Given the description of an element on the screen output the (x, y) to click on. 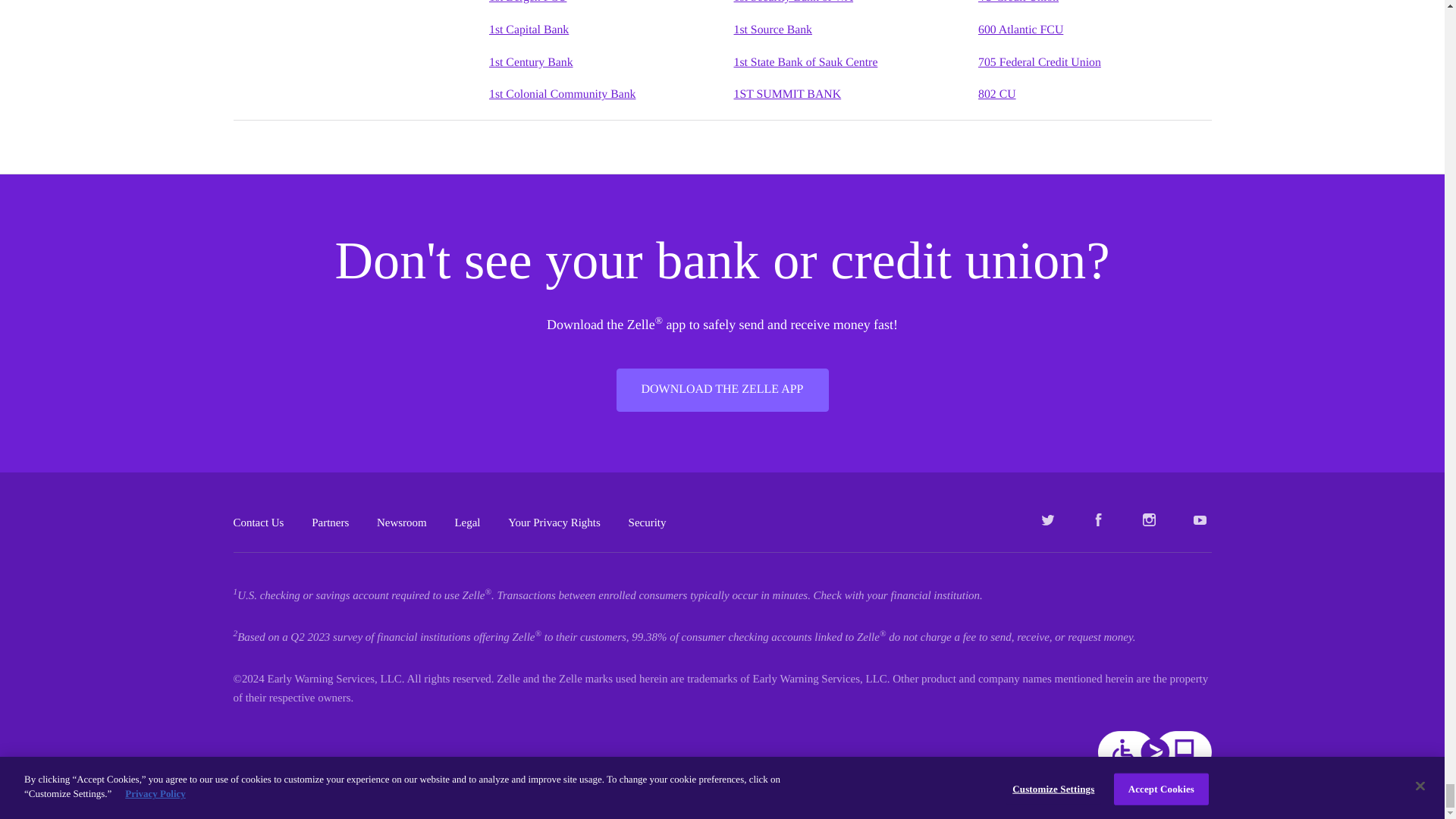
Twitter fan page (1047, 519)
Legal (467, 522)
YouTube fan page (1200, 519)
Facebook fan page (1098, 519)
Press Release (401, 522)
Partners Page (330, 522)
Instagram fan page (1149, 519)
